Given the description of an element on the screen output the (x, y) to click on. 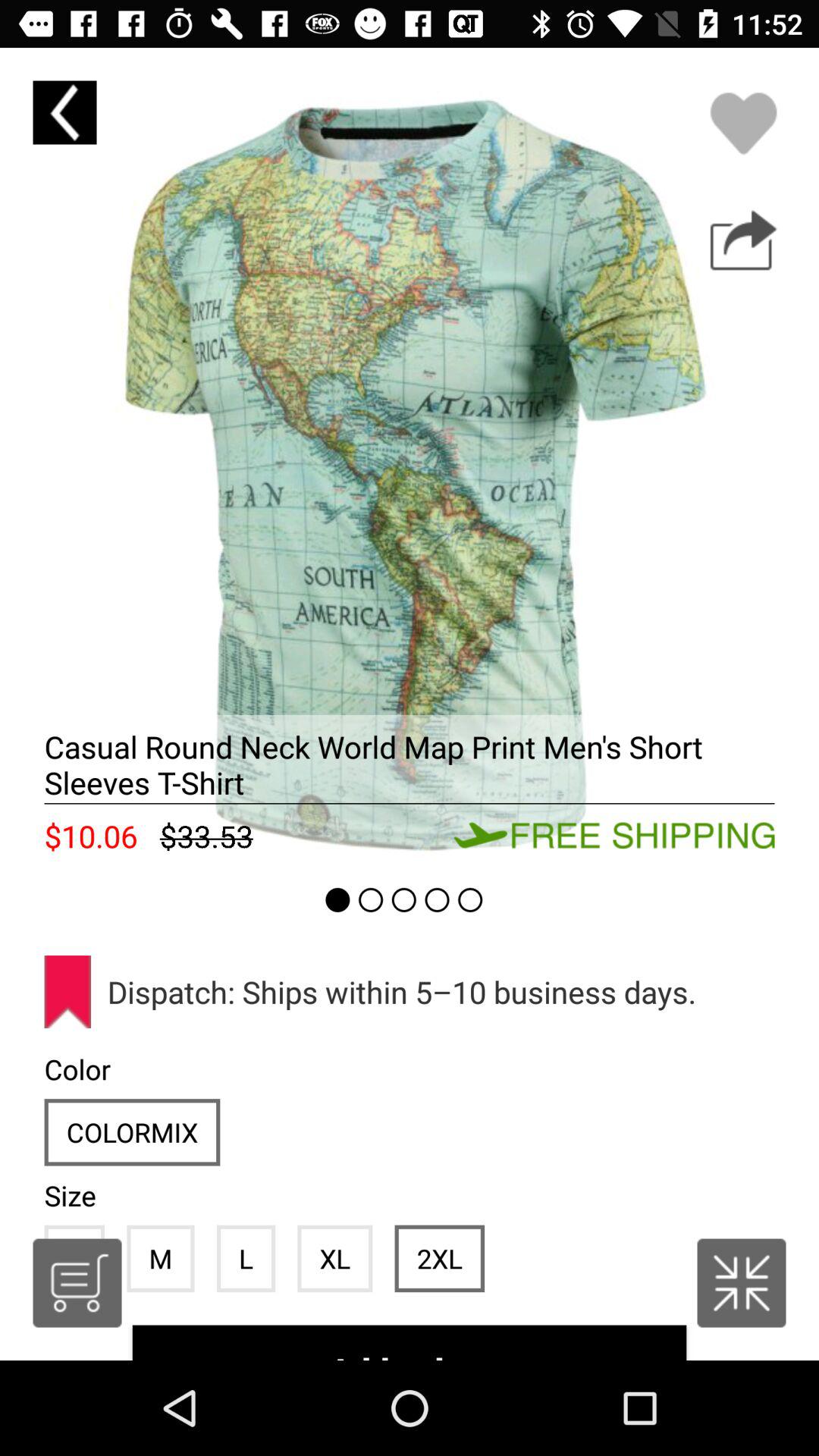
go back (64, 112)
